Given the description of an element on the screen output the (x, y) to click on. 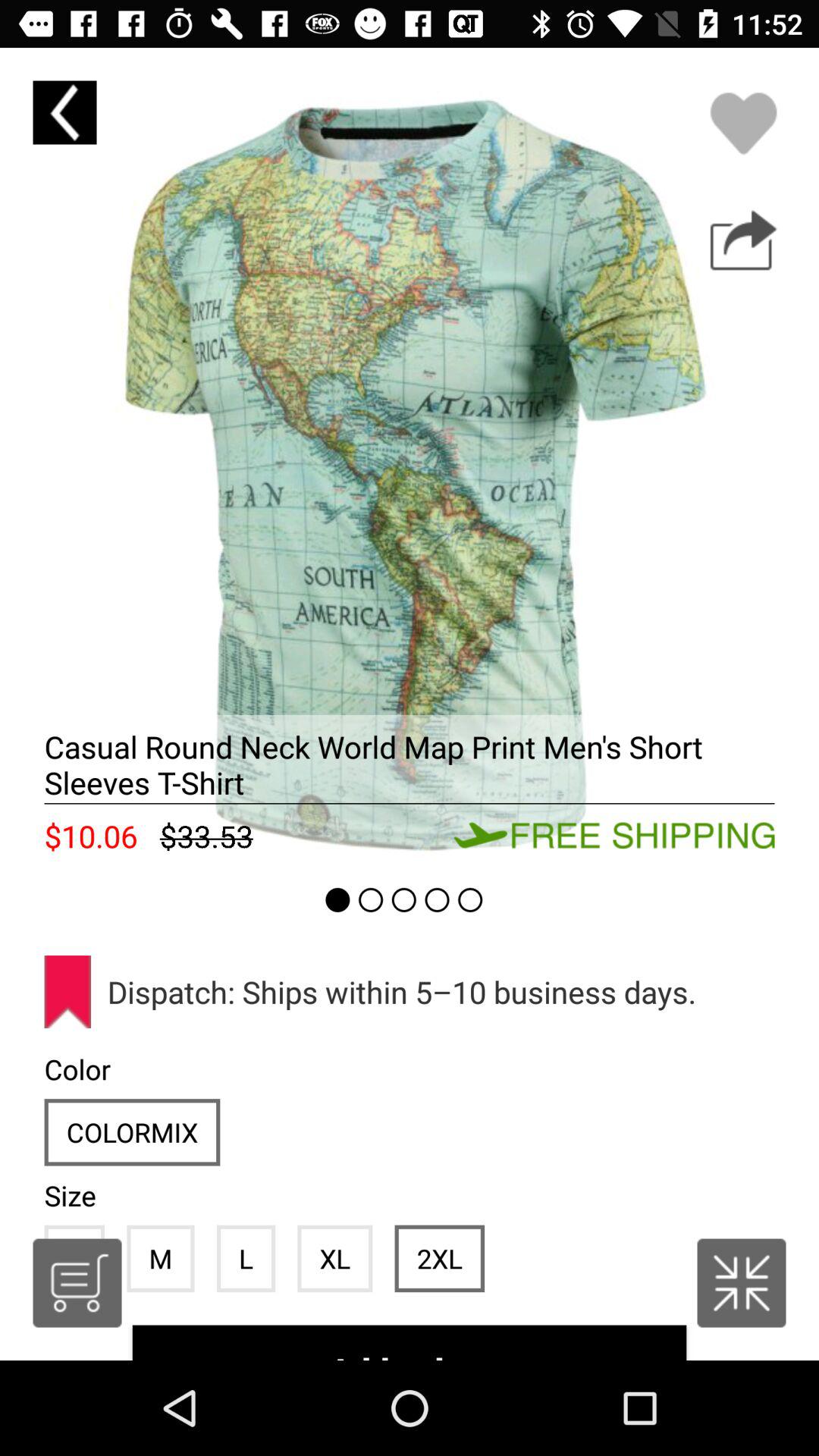
go back (64, 112)
